Given the description of an element on the screen output the (x, y) to click on. 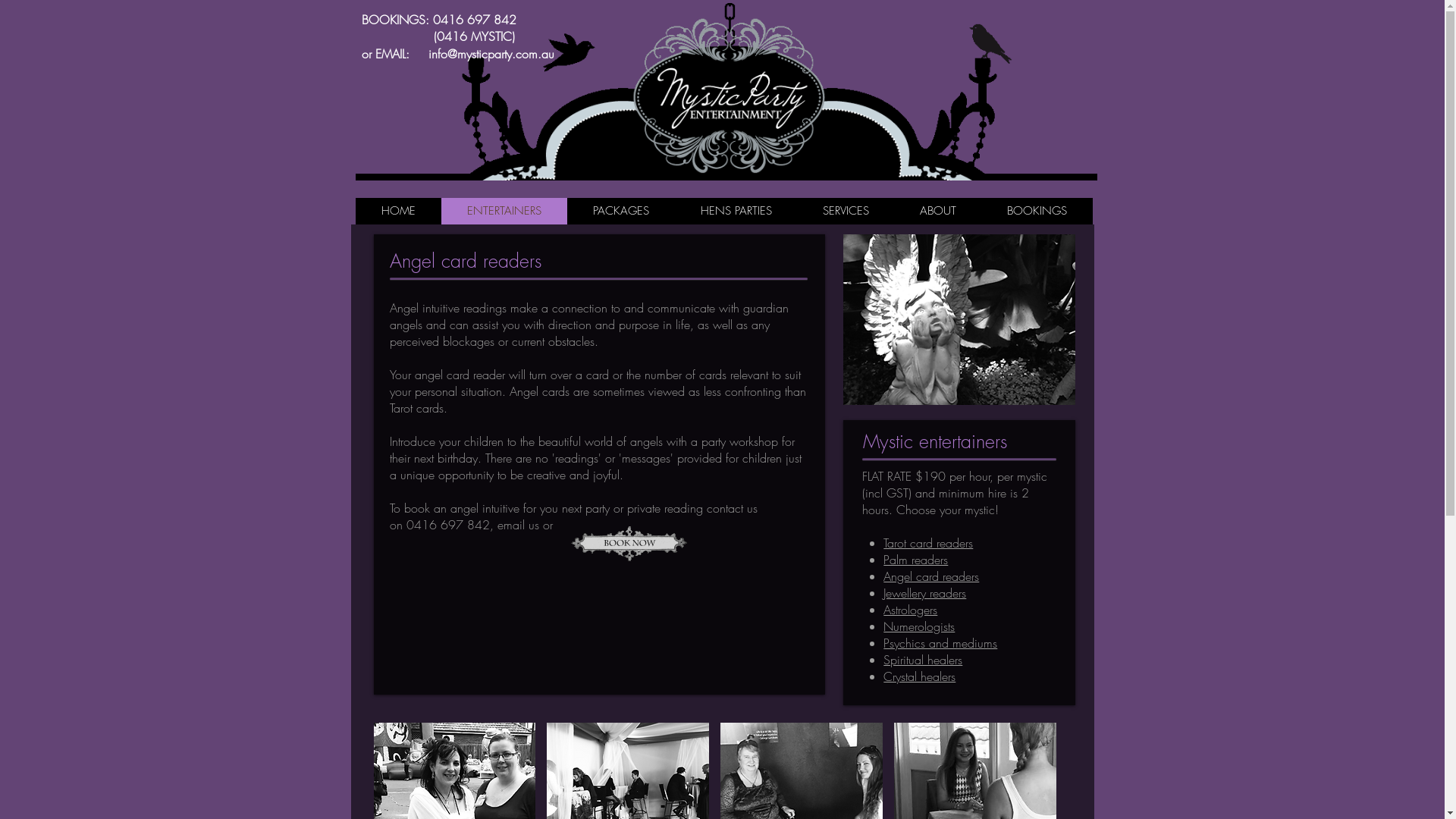
Crystal healers Element type: text (919, 676)
info@mysticparty.com.au Element type: text (490, 53)
HENS PARTIES Element type: text (735, 210)
Home Element type: hover (725, 91)
HOME Element type: text (397, 210)
Astrologers Element type: text (910, 609)
Numerologists Element type: text (918, 626)
Palm readers Element type: text (915, 559)
Angel card readers Element type: text (931, 575)
angel1.png Element type: hover (959, 319)
Spiritual healers Element type: text (922, 659)
ABOUT Element type: text (938, 210)
Jewellery readers Element type: text (924, 592)
ENTERTAINERS Element type: text (504, 210)
Psychics and mediums Element type: text (940, 642)
Tarot card readers Element type: text (927, 542)
PACKAGES Element type: text (620, 210)
SERVICES Element type: text (845, 210)
BOOKINGS Element type: text (1036, 210)
